Given the description of an element on the screen output the (x, y) to click on. 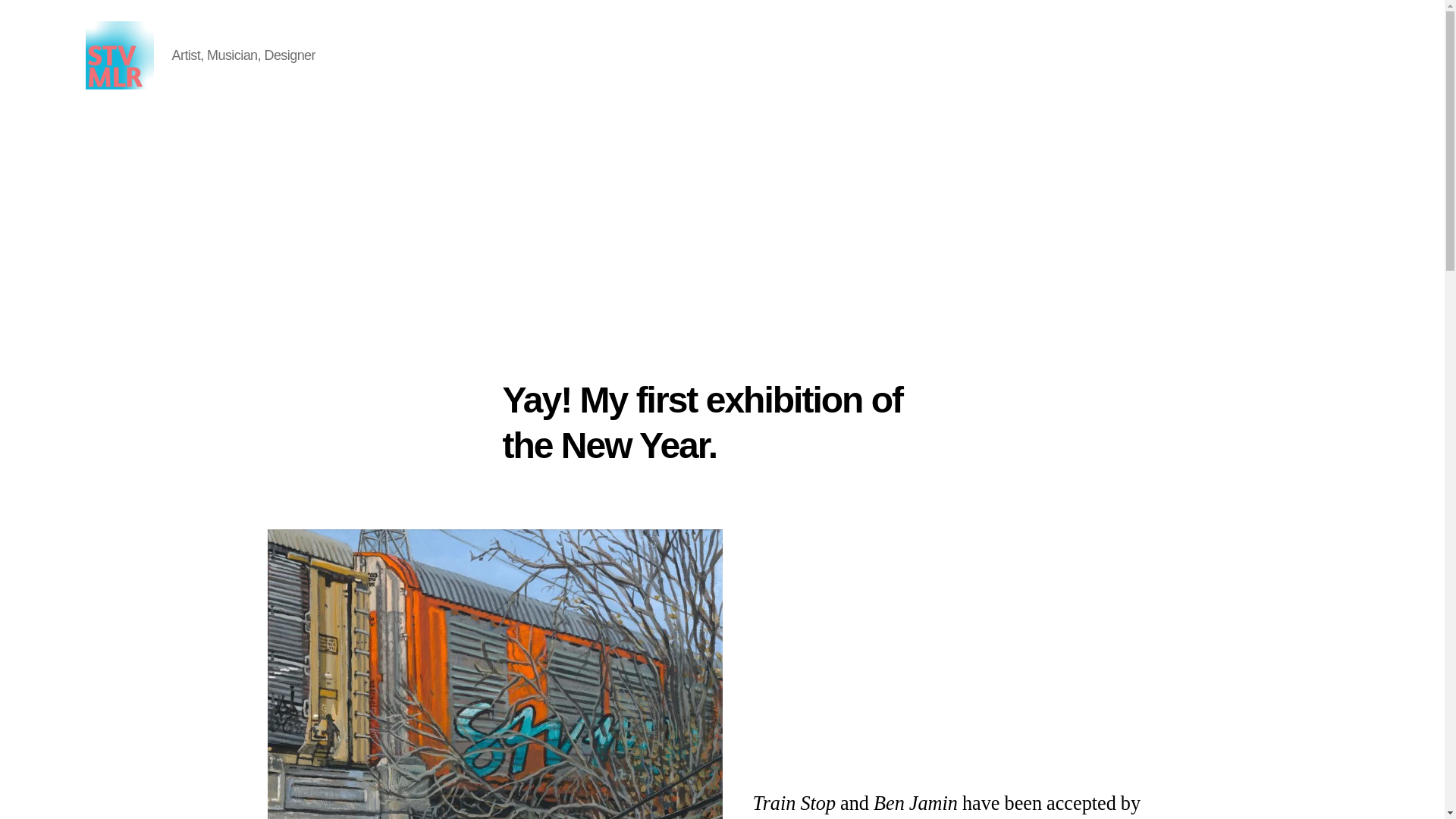
Menu (1327, 55)
